Given the description of an element on the screen output the (x, y) to click on. 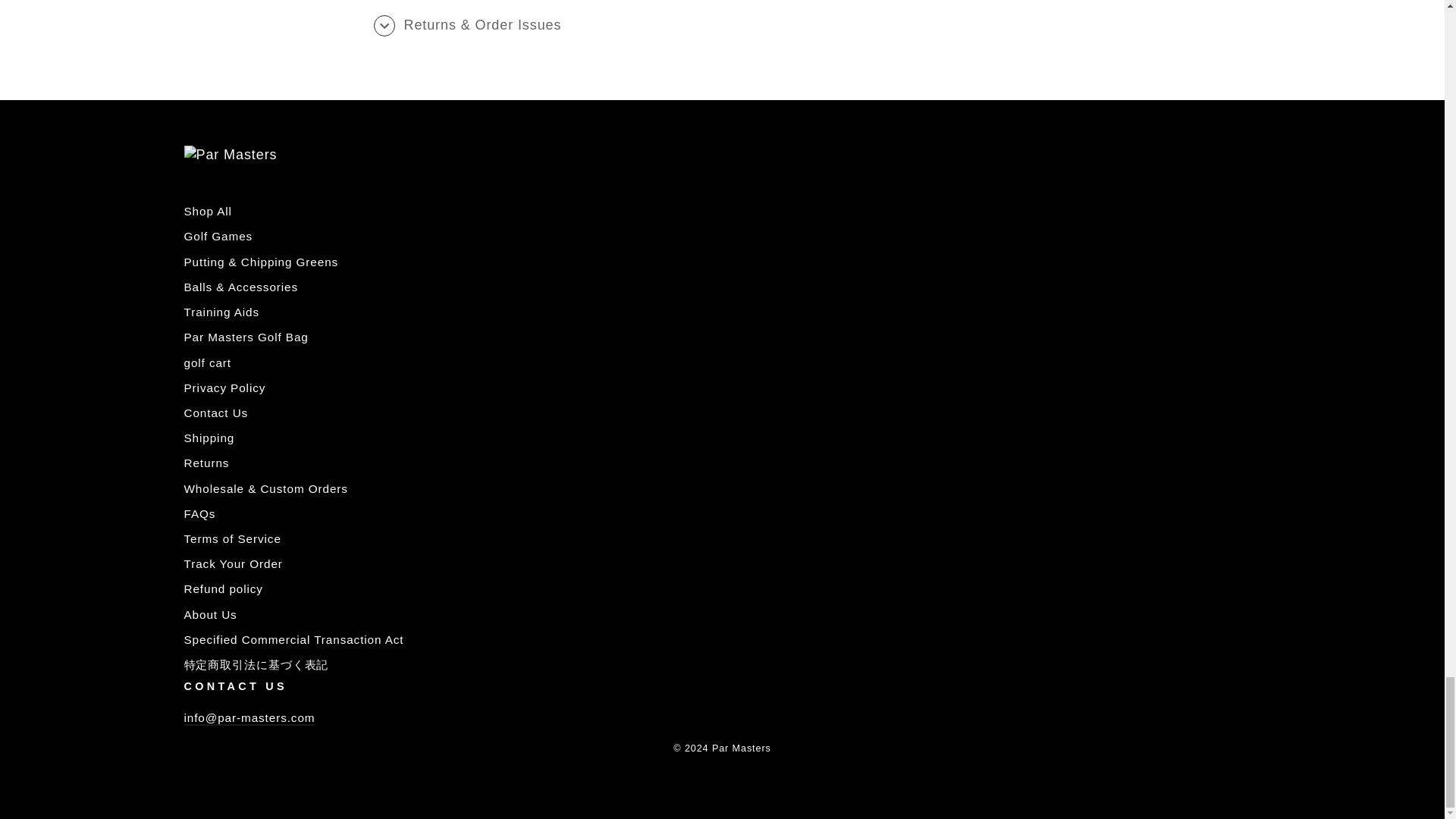
Contact Us (248, 718)
